Given the description of an element on the screen output the (x, y) to click on. 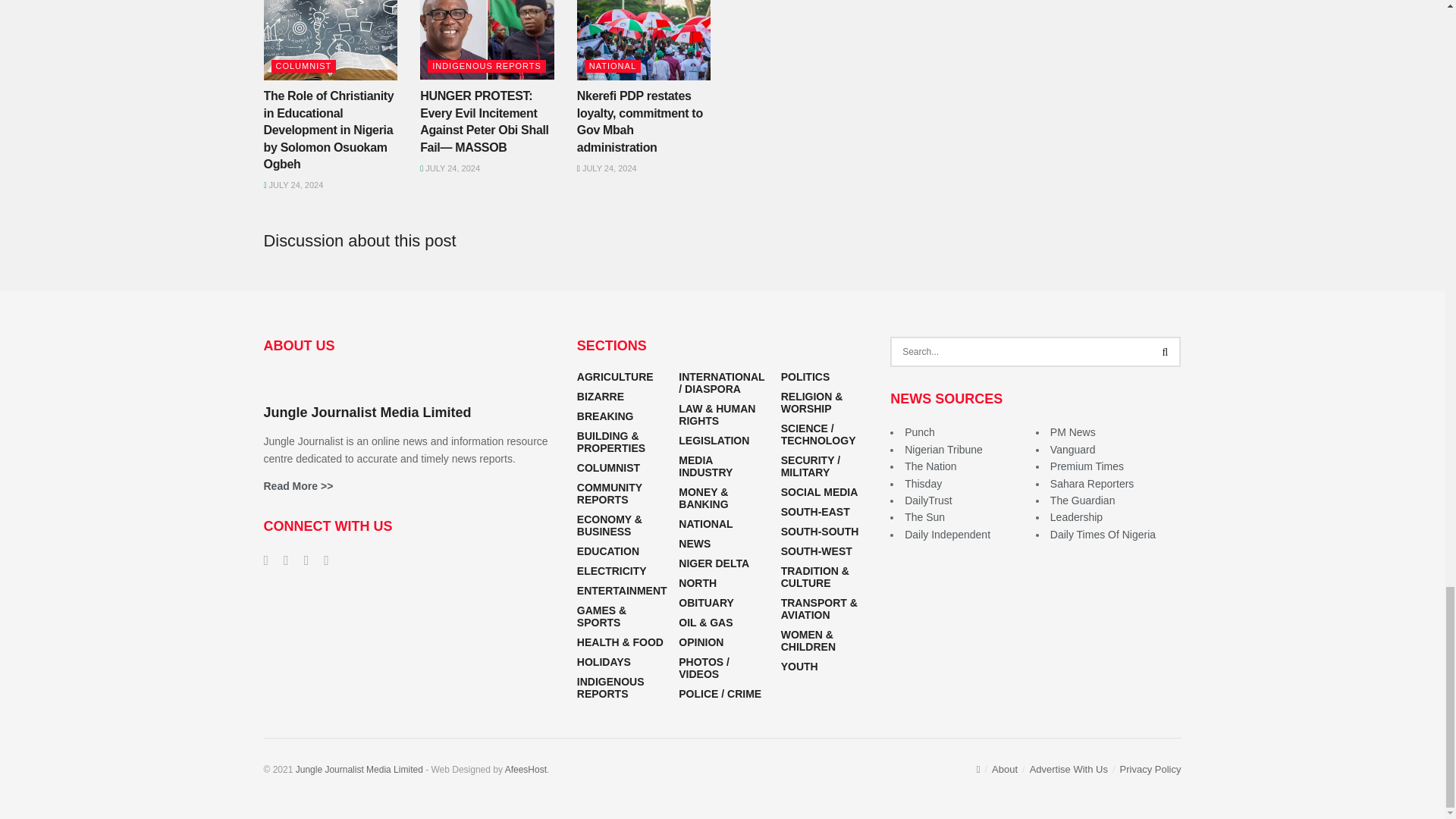
Web Hosting (526, 769)
About Jungle Journalist Media Limited (298, 485)
Jungle Journalist Media Limited (359, 769)
